Given the description of an element on the screen output the (x, y) to click on. 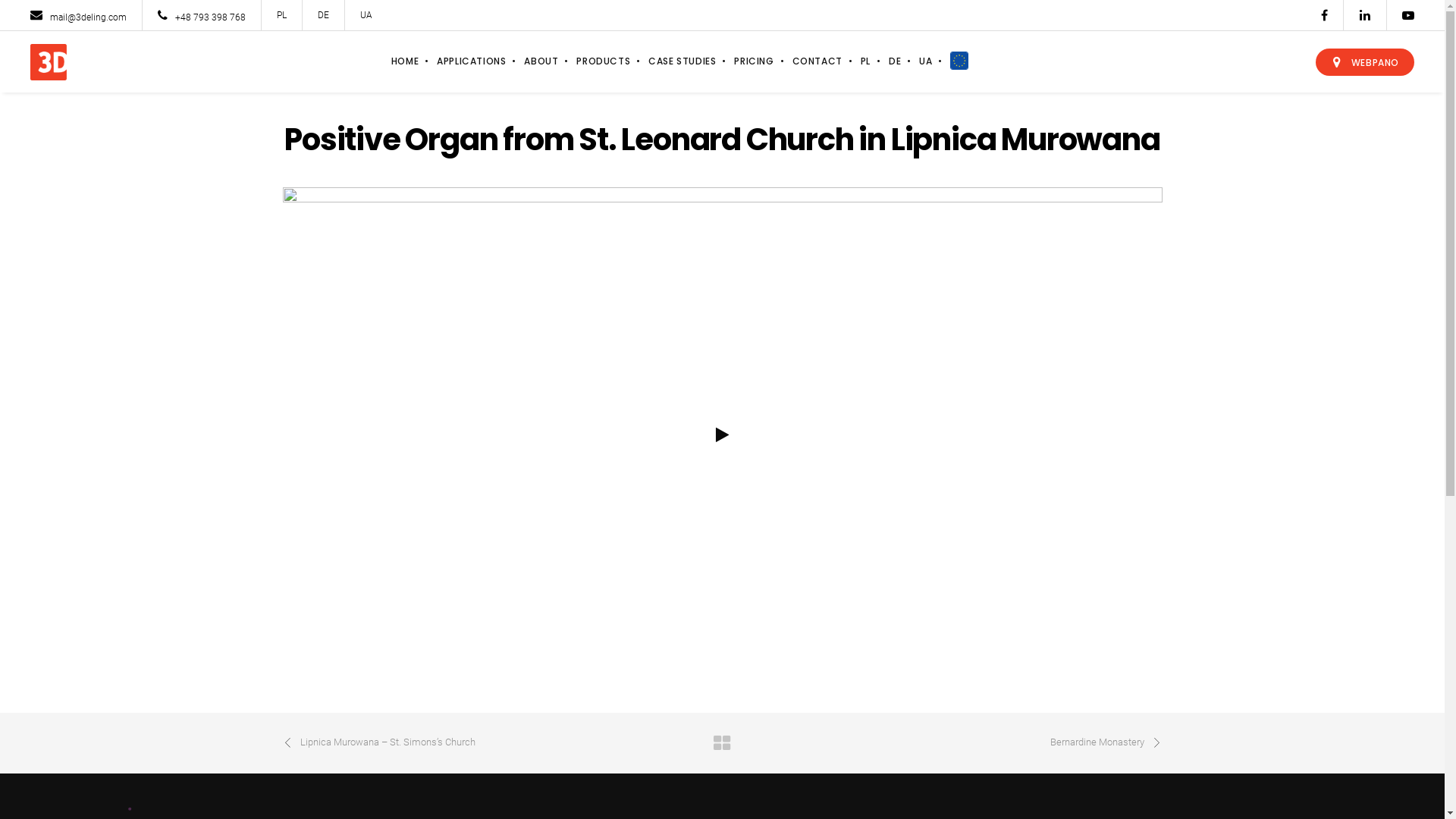
Bernardine Monastery Element type: text (1019, 742)
HOME Element type: text (404, 61)
UA Element type: text (366, 15)
CASE STUDIES Element type: text (681, 61)
PL Element type: text (281, 15)
PRICING Element type: text (753, 61)
PL Element type: text (865, 61)
DE Element type: text (323, 15)
CONTACT Element type: text (817, 61)
PRODUCTS Element type: text (603, 61)
ABOUT Element type: text (540, 61)
DE Element type: text (894, 61)
UA Element type: text (925, 61)
WEBPANO Element type: text (1364, 61)
APPLICATIONS Element type: text (470, 61)
